Given the description of an element on the screen output the (x, y) to click on. 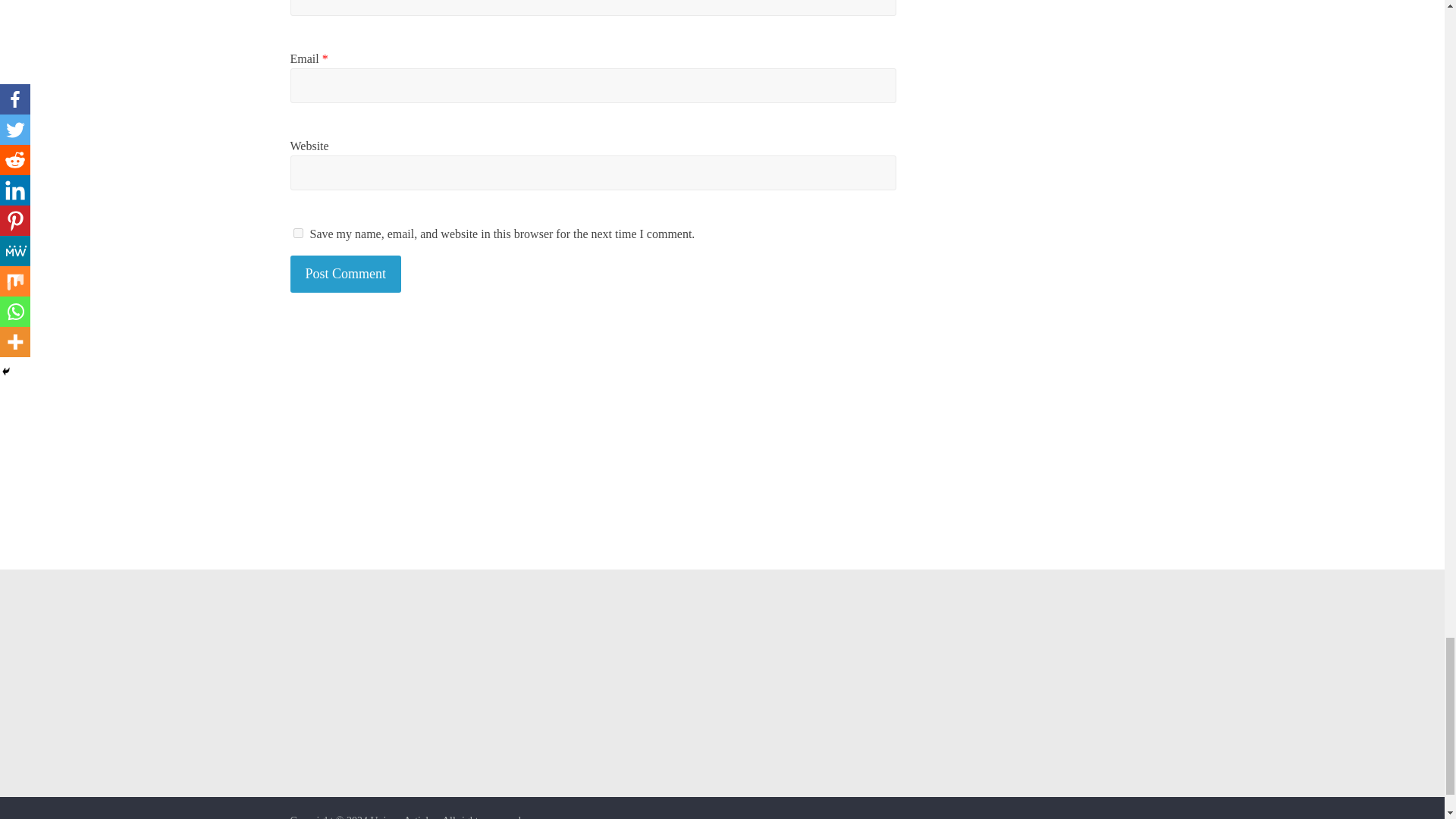
Post Comment (345, 273)
yes (297, 233)
